Given the description of an element on the screen output the (x, y) to click on. 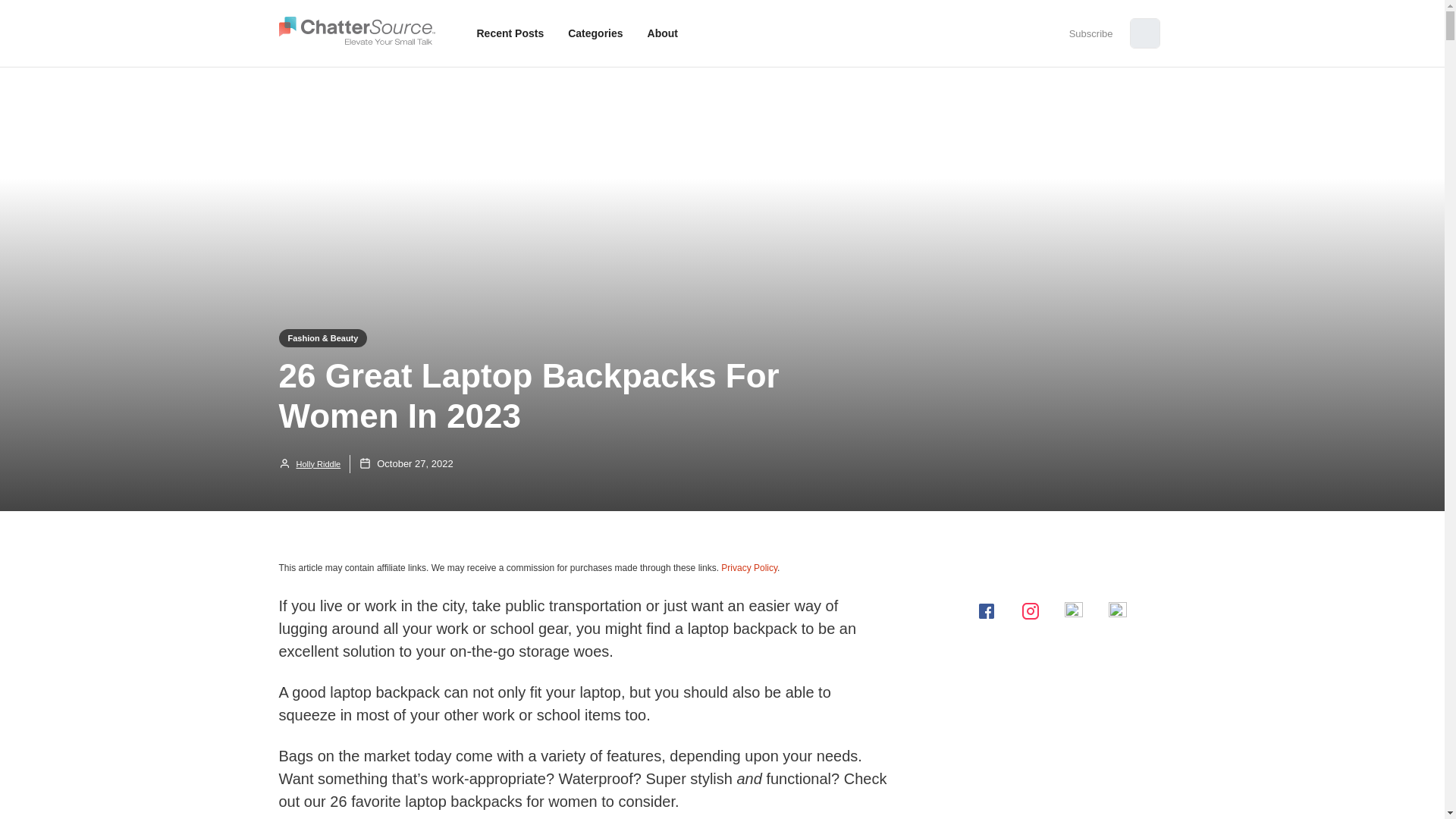
Recent Posts (510, 33)
Categories (595, 33)
Holly Riddle (309, 464)
Search (24, 15)
Privacy Policy (748, 567)
Subscribe (1091, 33)
About (662, 33)
